Given the description of an element on the screen output the (x, y) to click on. 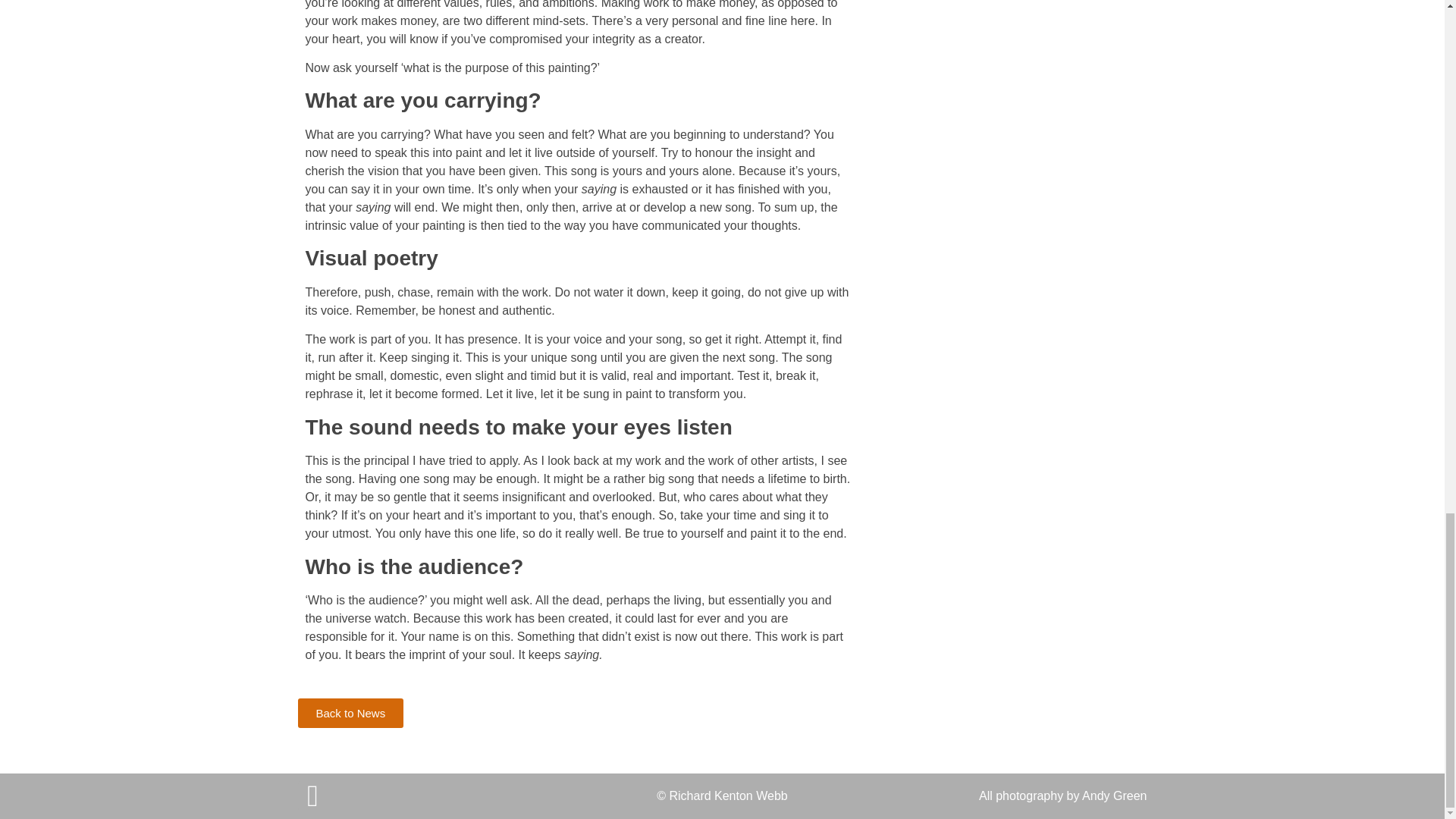
Back to News (350, 713)
